Given the description of an element on the screen output the (x, y) to click on. 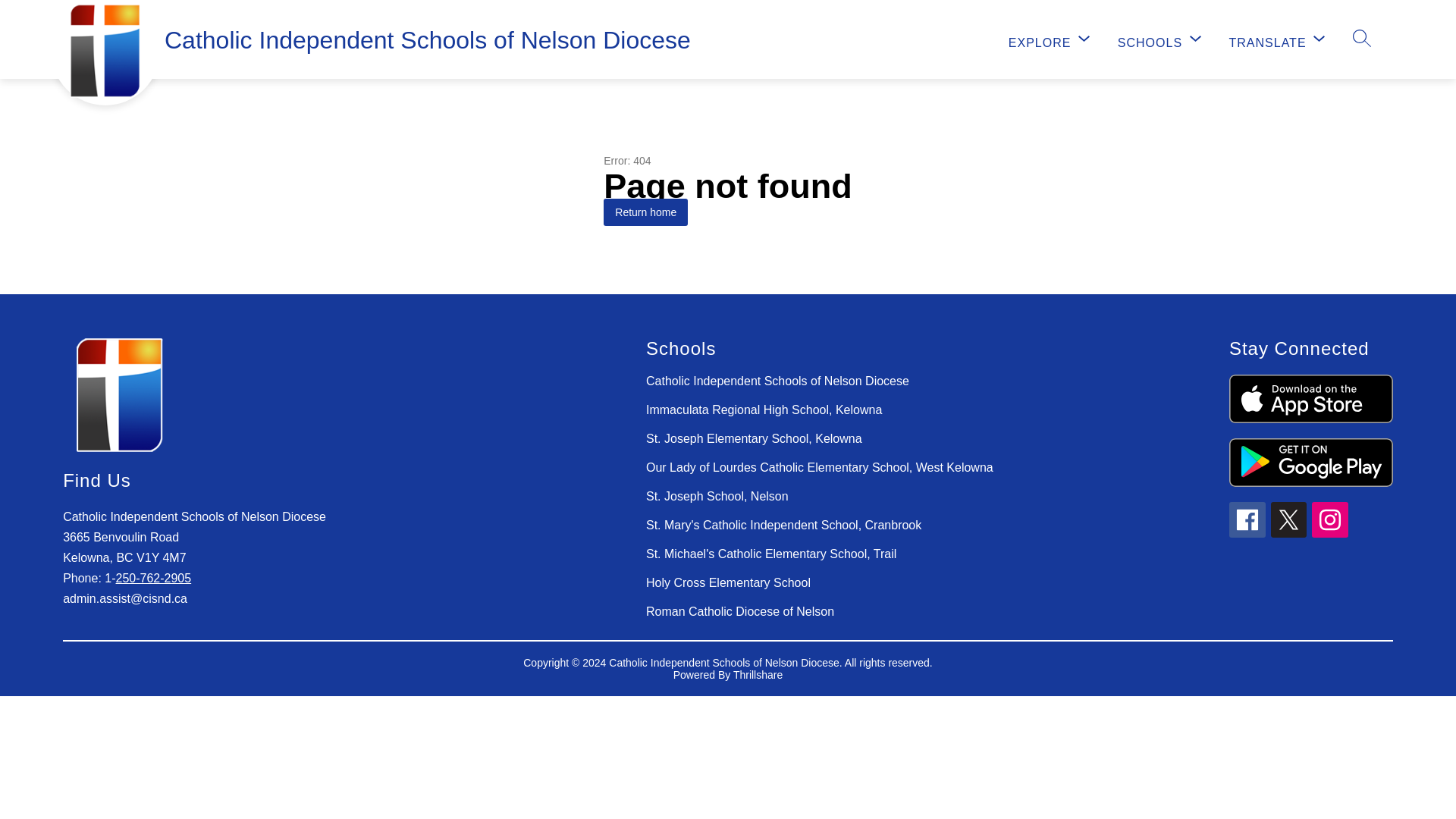
PARENTS (818, 38)
CISND EVENTS (952, 39)
Show submenu for Parents (862, 38)
FAITH (1123, 39)
MORE (1309, 39)
PARENTS (818, 39)
FAITH (1123, 38)
EXPLORE (1051, 40)
NEWS (1051, 38)
NEWS (1051, 39)
